Given the description of an element on the screen output the (x, y) to click on. 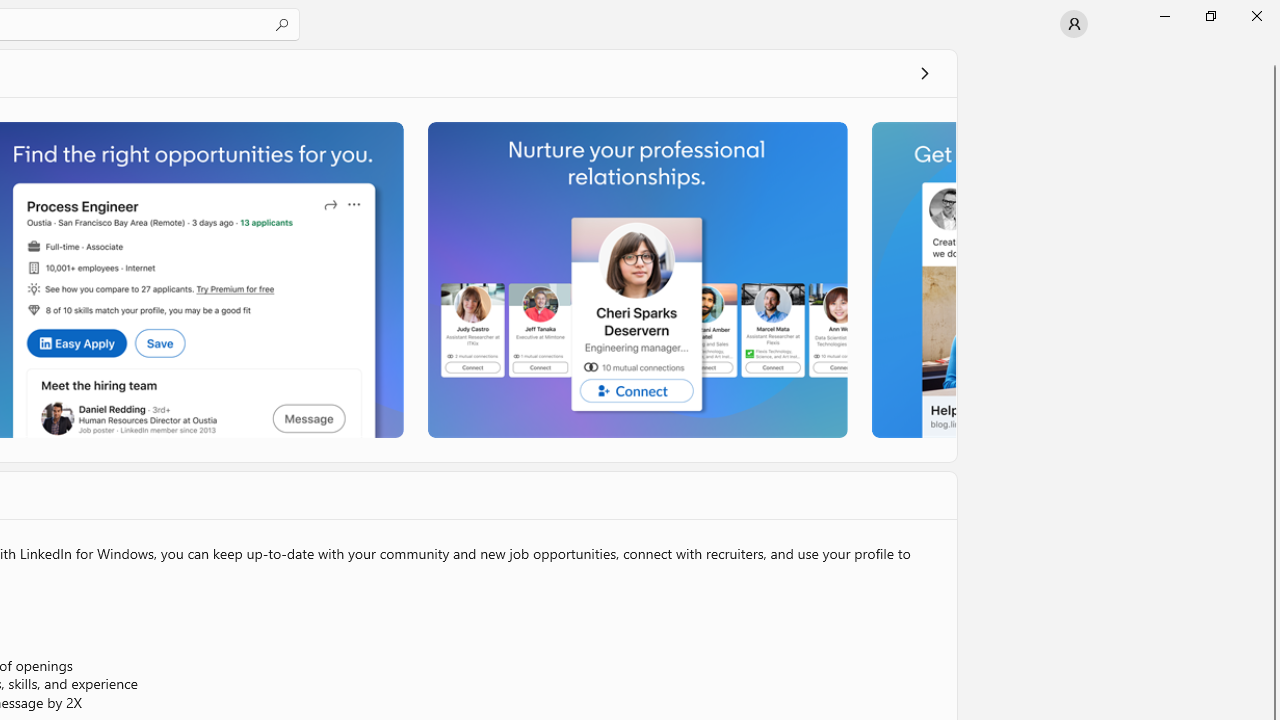
Restore Microsoft Store (1210, 15)
Minimize Microsoft Store (1164, 15)
Screenshot 4 (912, 279)
See all (924, 72)
User profile (1073, 24)
Screenshot 3 (636, 279)
Vertical Small Decrease (1272, 55)
Close Microsoft Store (1256, 15)
